Given the description of an element on the screen output the (x, y) to click on. 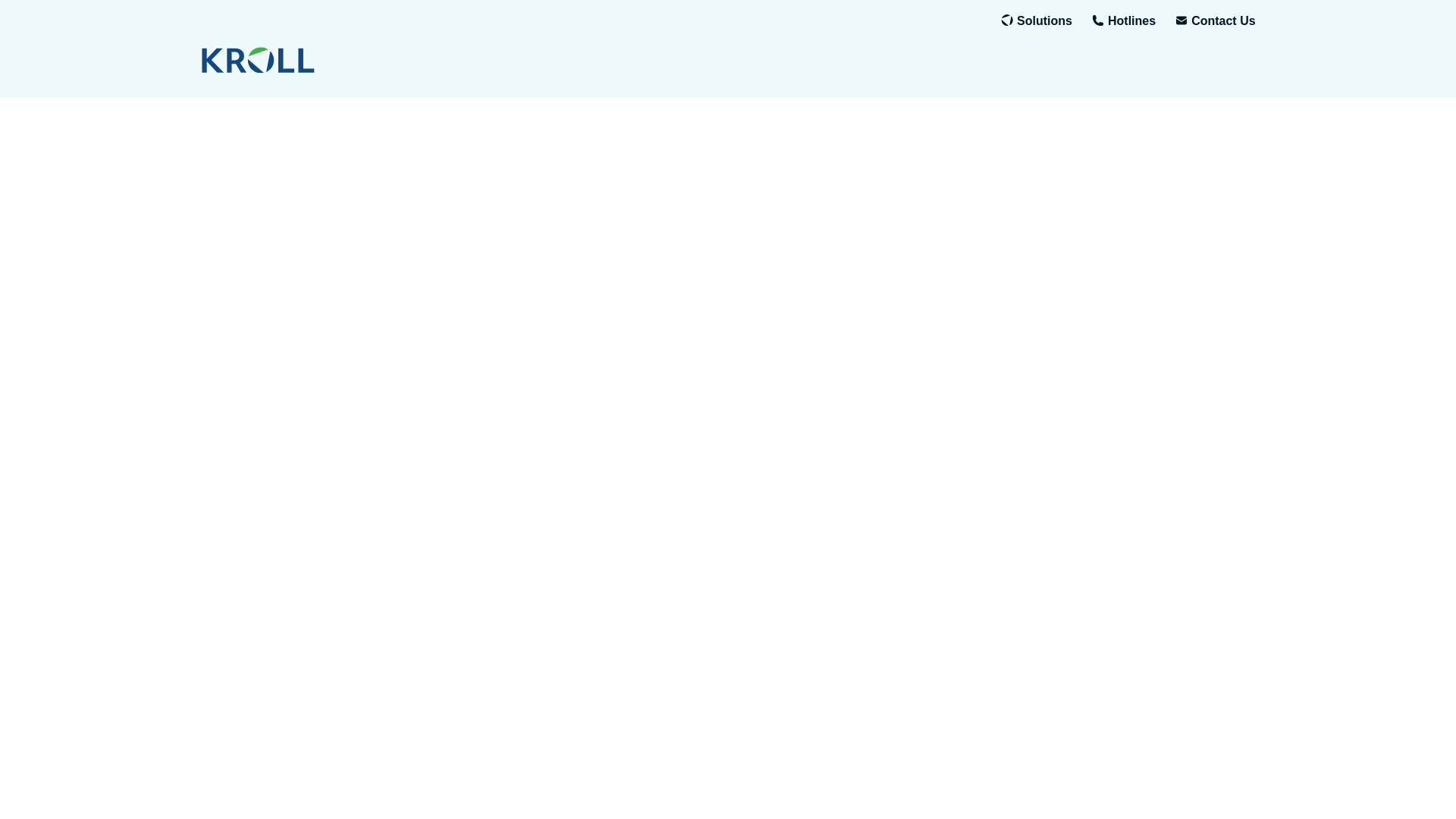
Our Capabilities (1043, 21)
Phone (1132, 21)
Hotlines (1132, 21)
Send Message (1223, 21)
Kroll-Logo (332, 59)
Solutions (1043, 21)
Contact Us (1223, 21)
